Given the description of an element on the screen output the (x, y) to click on. 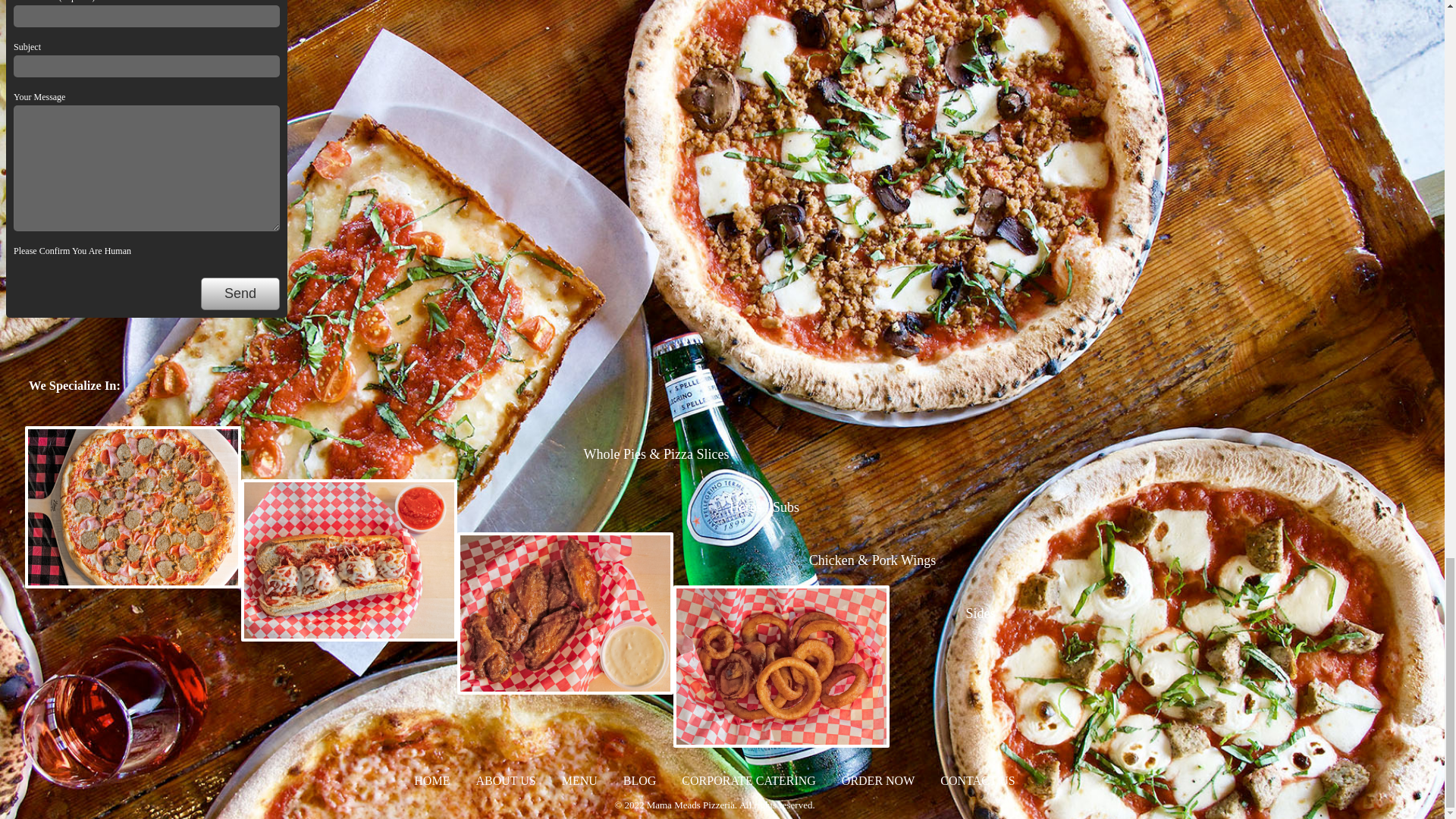
Send (239, 293)
Send (239, 293)
HOME (431, 780)
Sides (979, 613)
